Given the description of an element on the screen output the (x, y) to click on. 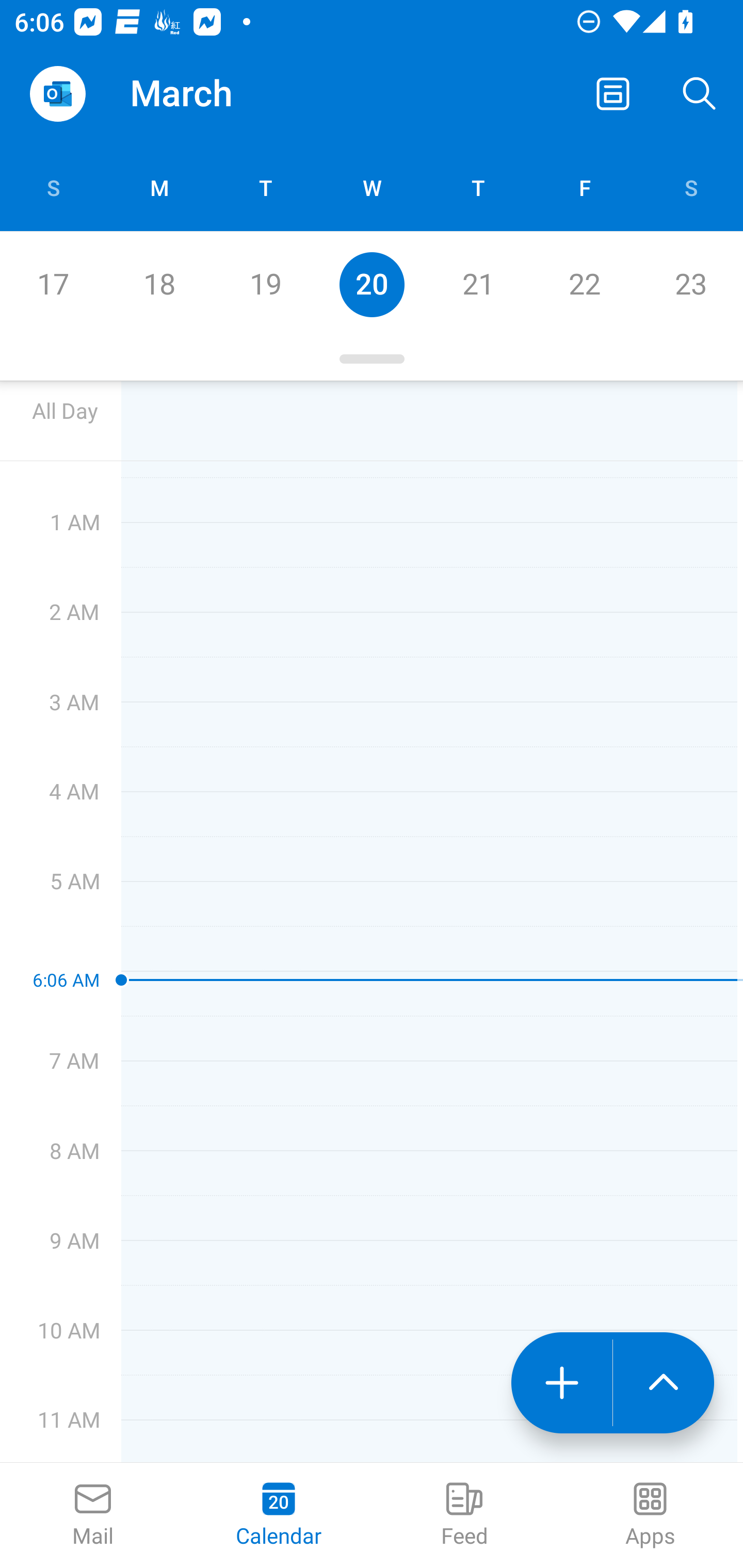
March March 2024, day picker (209, 93)
Switch away from Day view (612, 93)
Search, ,  (699, 93)
Open Navigation Drawer (57, 94)
17 Sunday, March 17 (53, 284)
18 Monday, March 18 (159, 284)
19 Tuesday, March 19 (265, 284)
20 Wednesday, March 20, today, Selected (371, 284)
21 Thursday, March 21 (477, 284)
22 Friday, March 22 (584, 284)
23 Saturday, March 23 (690, 284)
Day picker (371, 359)
New event (561, 1382)
launch the extended action menu (663, 1382)
Mail (92, 1515)
Feed (464, 1515)
Apps (650, 1515)
